Given the description of an element on the screen output the (x, y) to click on. 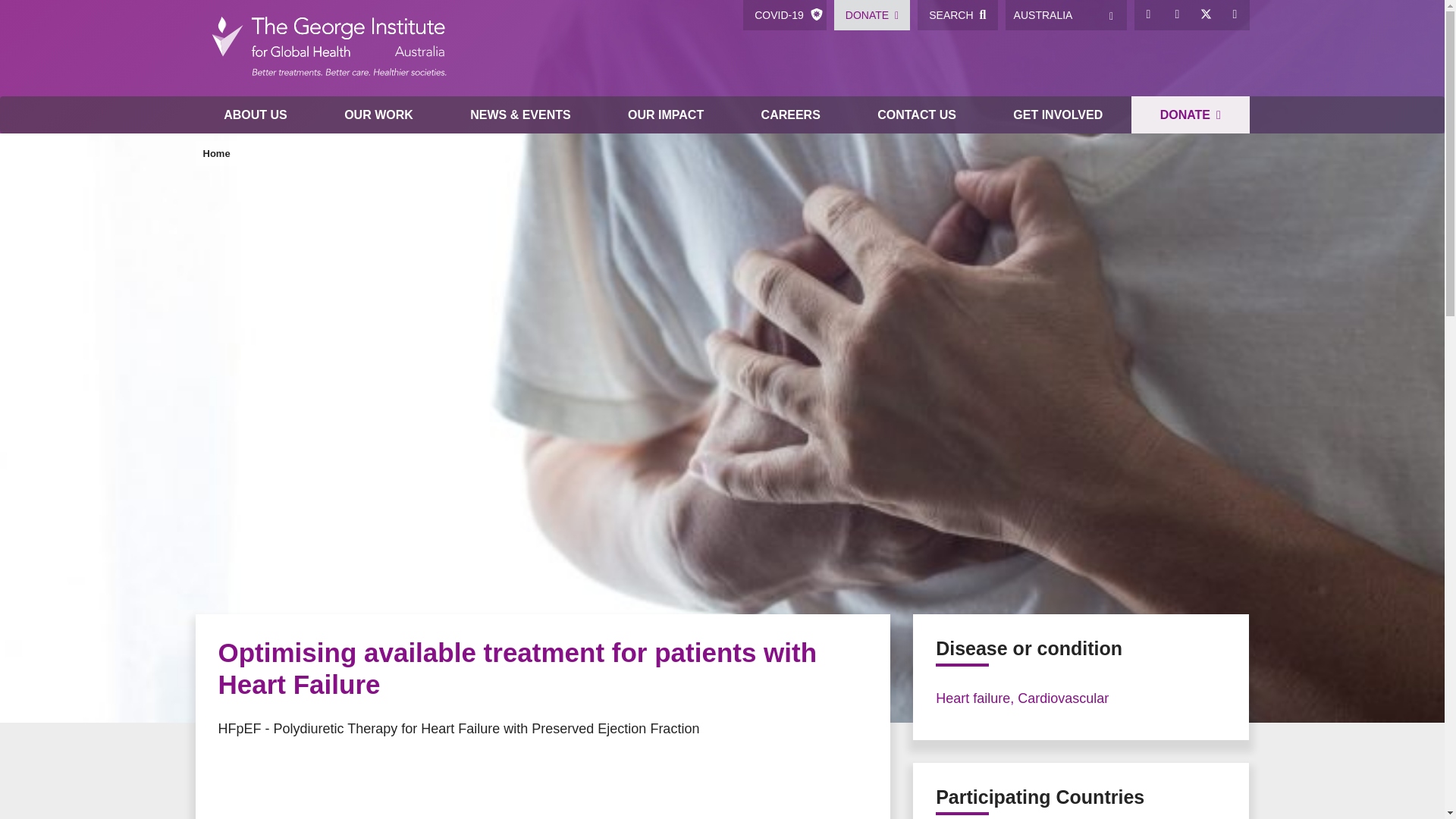
OUR WORK (378, 114)
Share to X (263, 777)
Home (328, 48)
YouTube (1235, 15)
SEARCH (957, 15)
Facebook (1148, 15)
DONATE (872, 15)
Share to Linkedin (324, 777)
COVID-19 (784, 15)
Twitter (1206, 15)
